Given the description of an element on the screen output the (x, y) to click on. 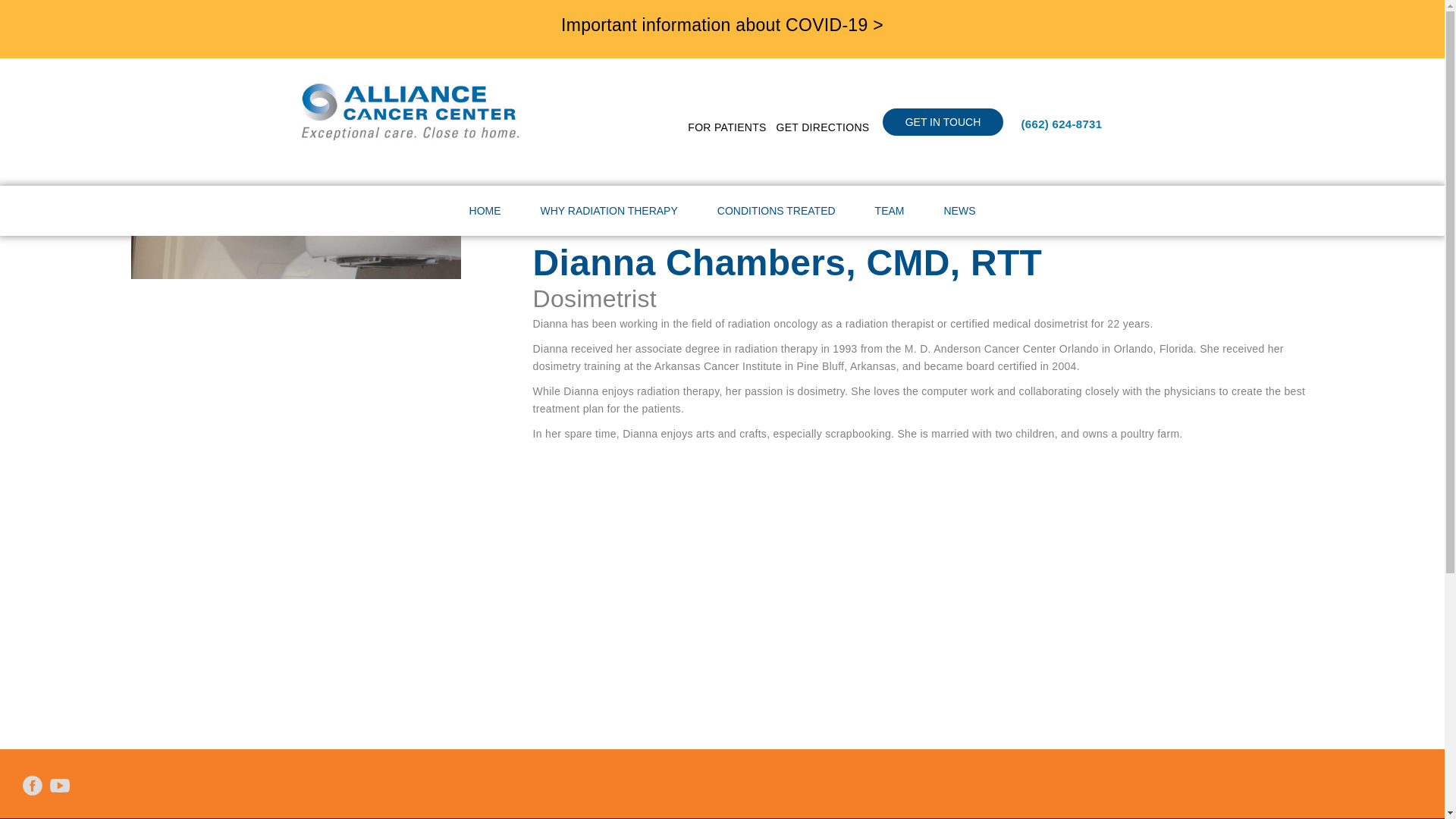
alliancejoplin (409, 110)
TEAM (890, 210)
GET IN TOUCH (943, 121)
GET DIRECTIONS (822, 127)
Youtube (60, 785)
FOR PATIENTS (726, 127)
CONDITIONS TREATED (776, 210)
Facebook (32, 785)
HOME (485, 210)
WHY RADIATION THERAPY (609, 210)
